Given the description of an element on the screen output the (x, y) to click on. 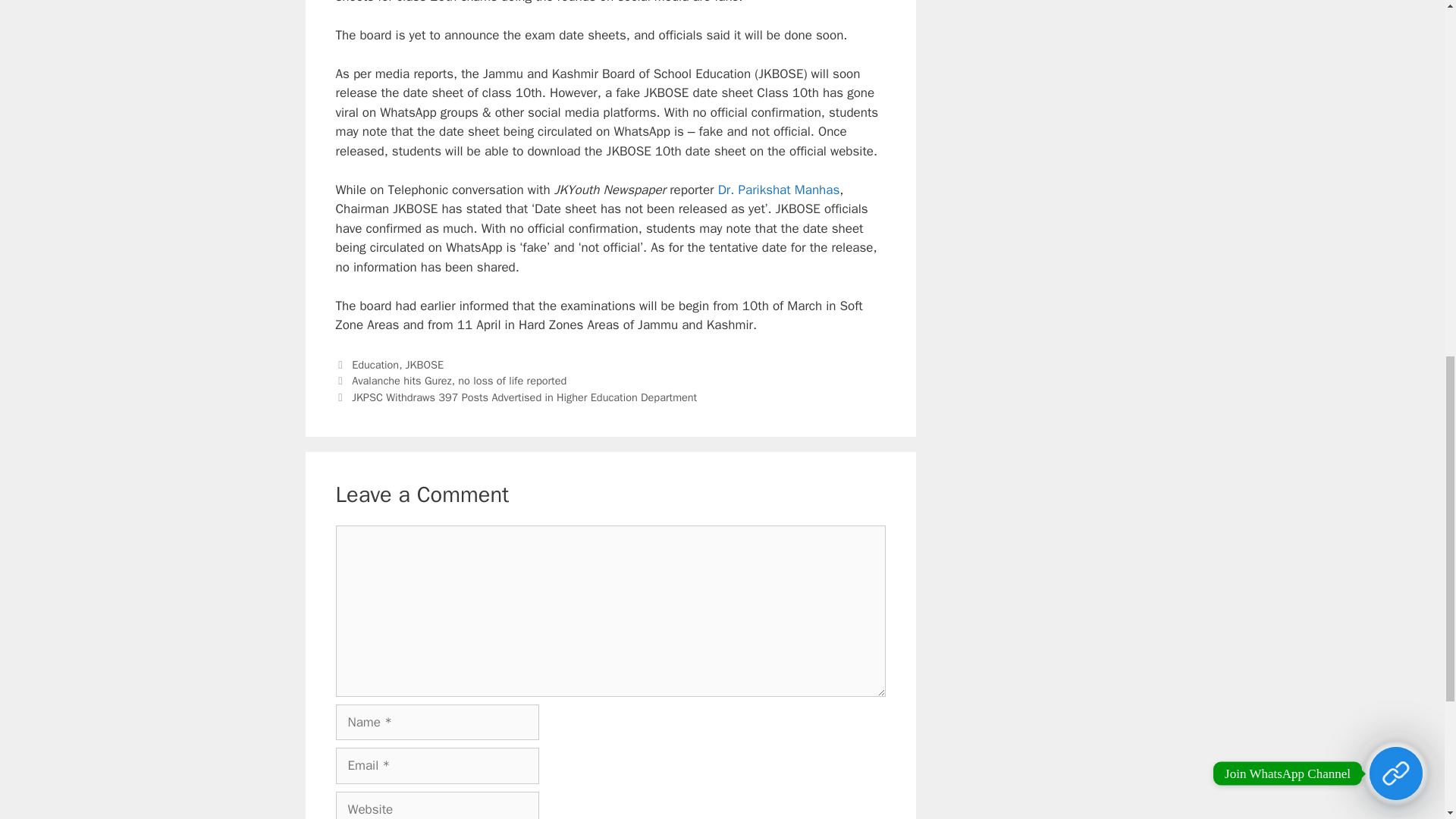
Dr. Parikshat Manhas (778, 189)
Avalanche hits Gurez, no loss of life reported (459, 380)
Education (375, 364)
JKBOSE (425, 364)
